Given the description of an element on the screen output the (x, y) to click on. 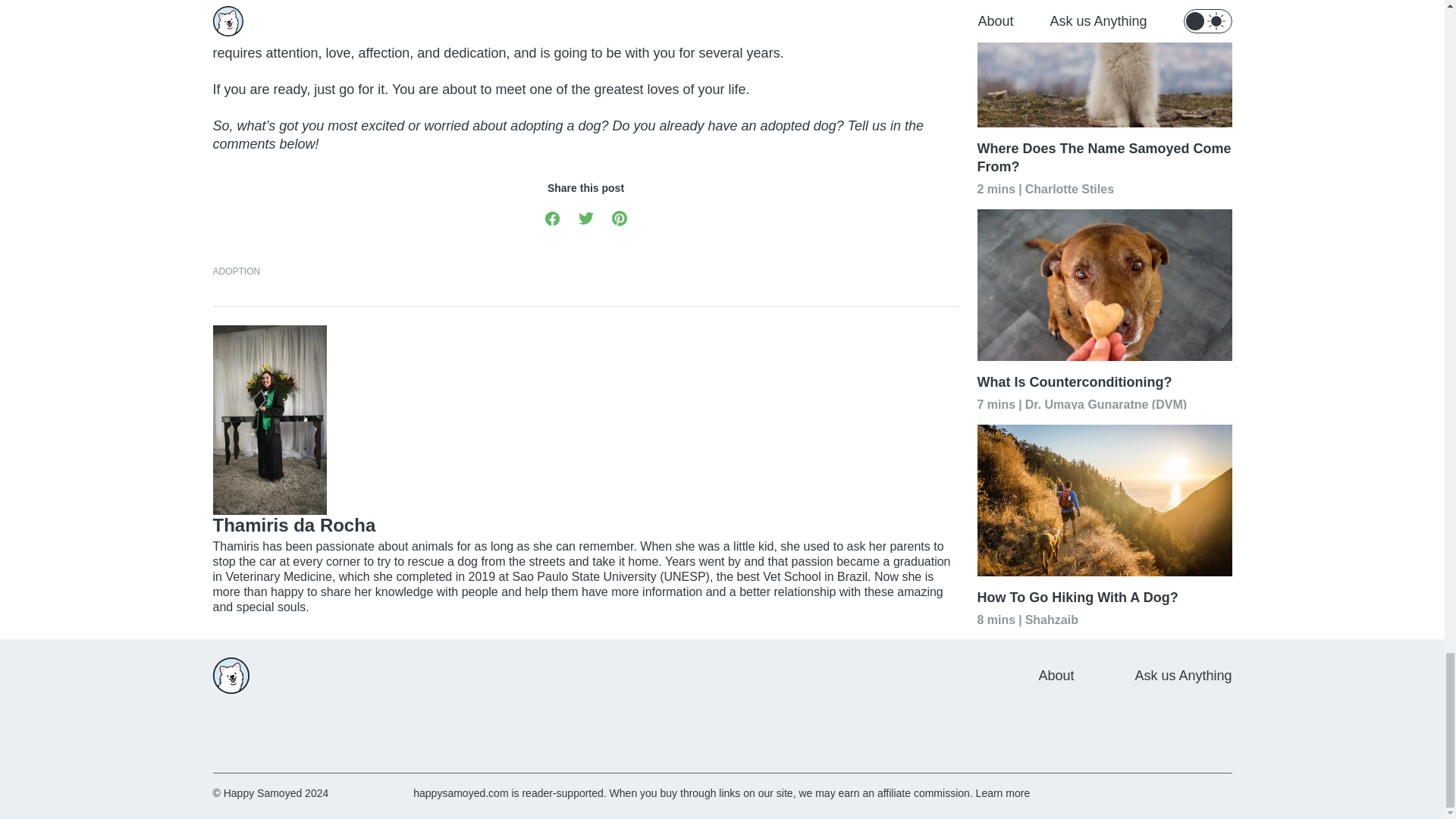
ADOPTION (236, 271)
Share this post on Twitter (585, 217)
Ask us Anything (1182, 675)
About (1056, 675)
Share this post on Facebook (551, 217)
Learn more (1002, 793)
Pin this post on Pinterest (618, 217)
